Given the description of an element on the screen output the (x, y) to click on. 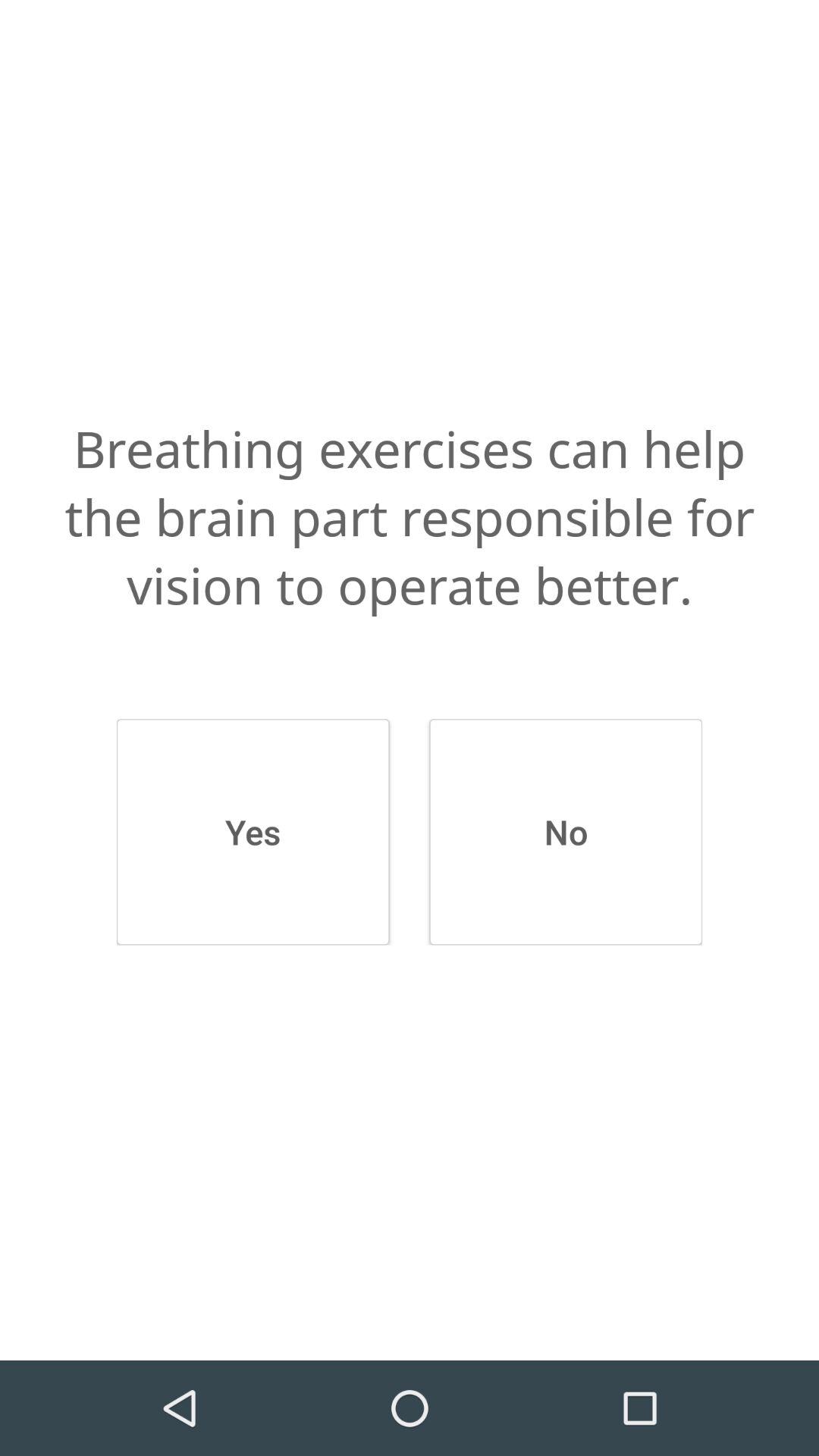
turn on the icon to the left of no button (252, 831)
